Given the description of an element on the screen output the (x, y) to click on. 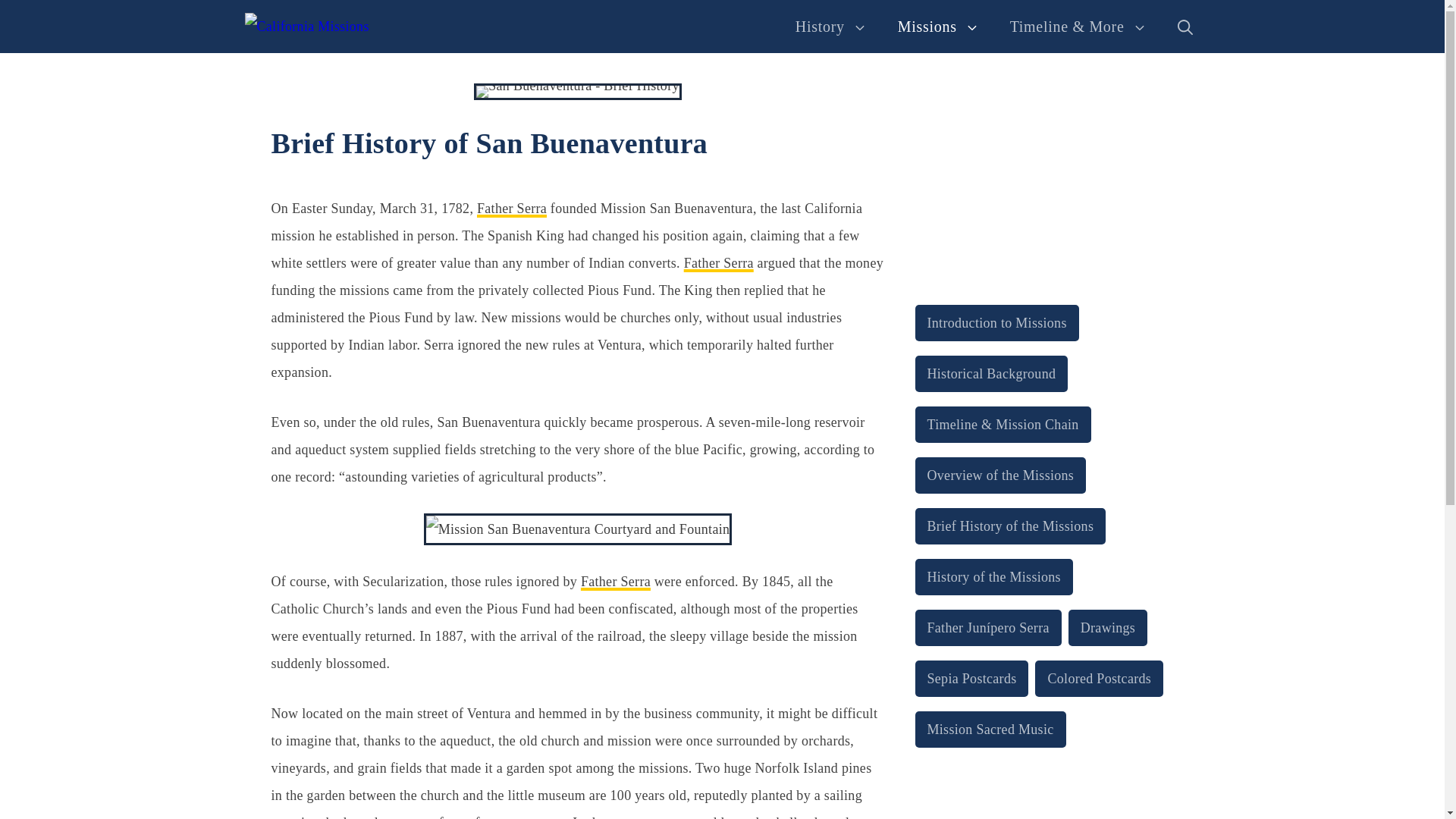
History (831, 26)
Missions (938, 26)
Brief History of San Buenaventura - 2 (577, 529)
Brief History of San Buenaventura - 1 (577, 91)
